Given the description of an element on the screen output the (x, y) to click on. 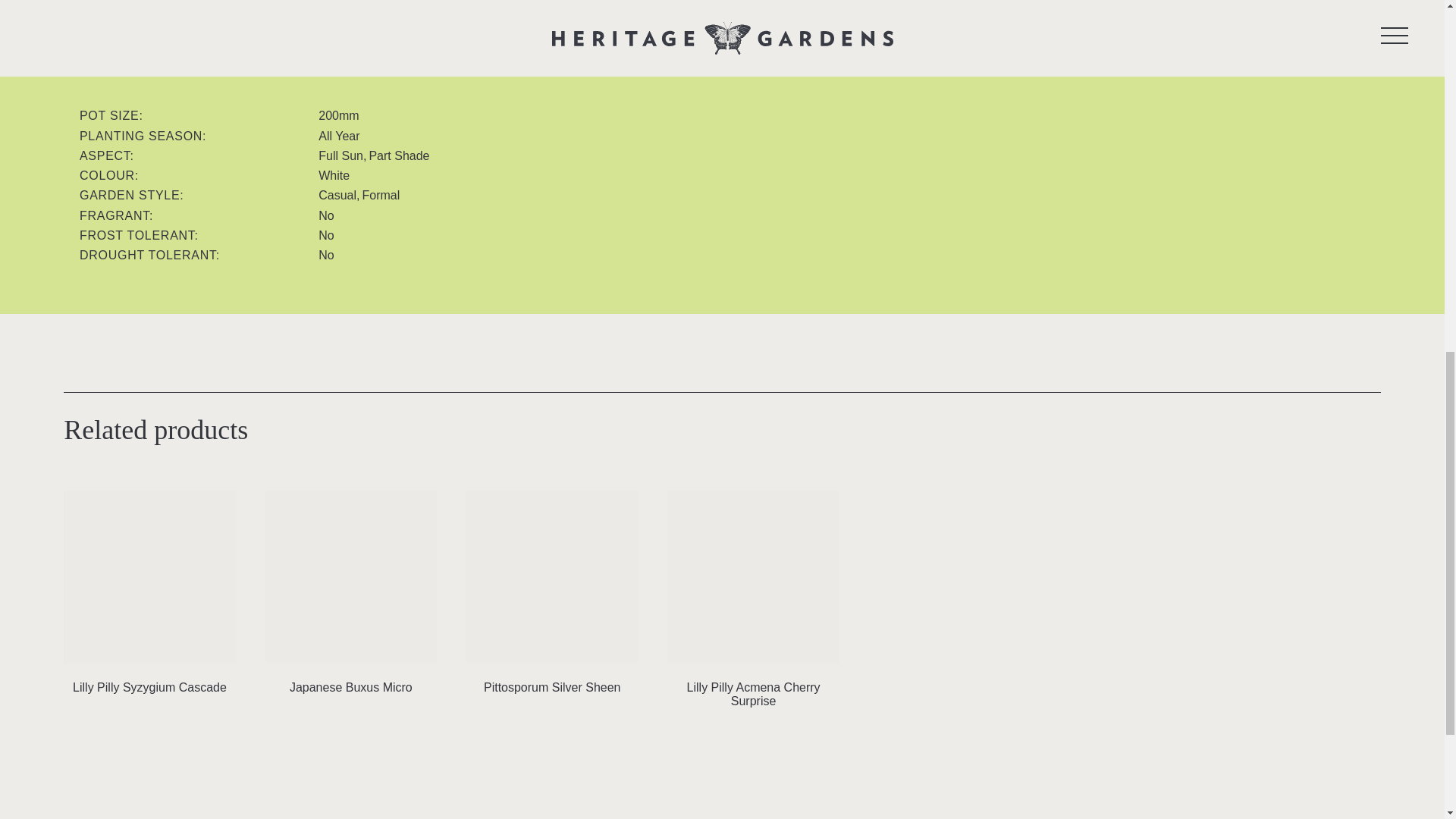
Japanese Buxus Micro (350, 595)
Lilly Pilly Syzygium Cascade (149, 595)
Lilly Pilly Acmena Cherry Surprise (752, 602)
Pittosporum Silver Sheen (551, 595)
